Given the description of an element on the screen output the (x, y) to click on. 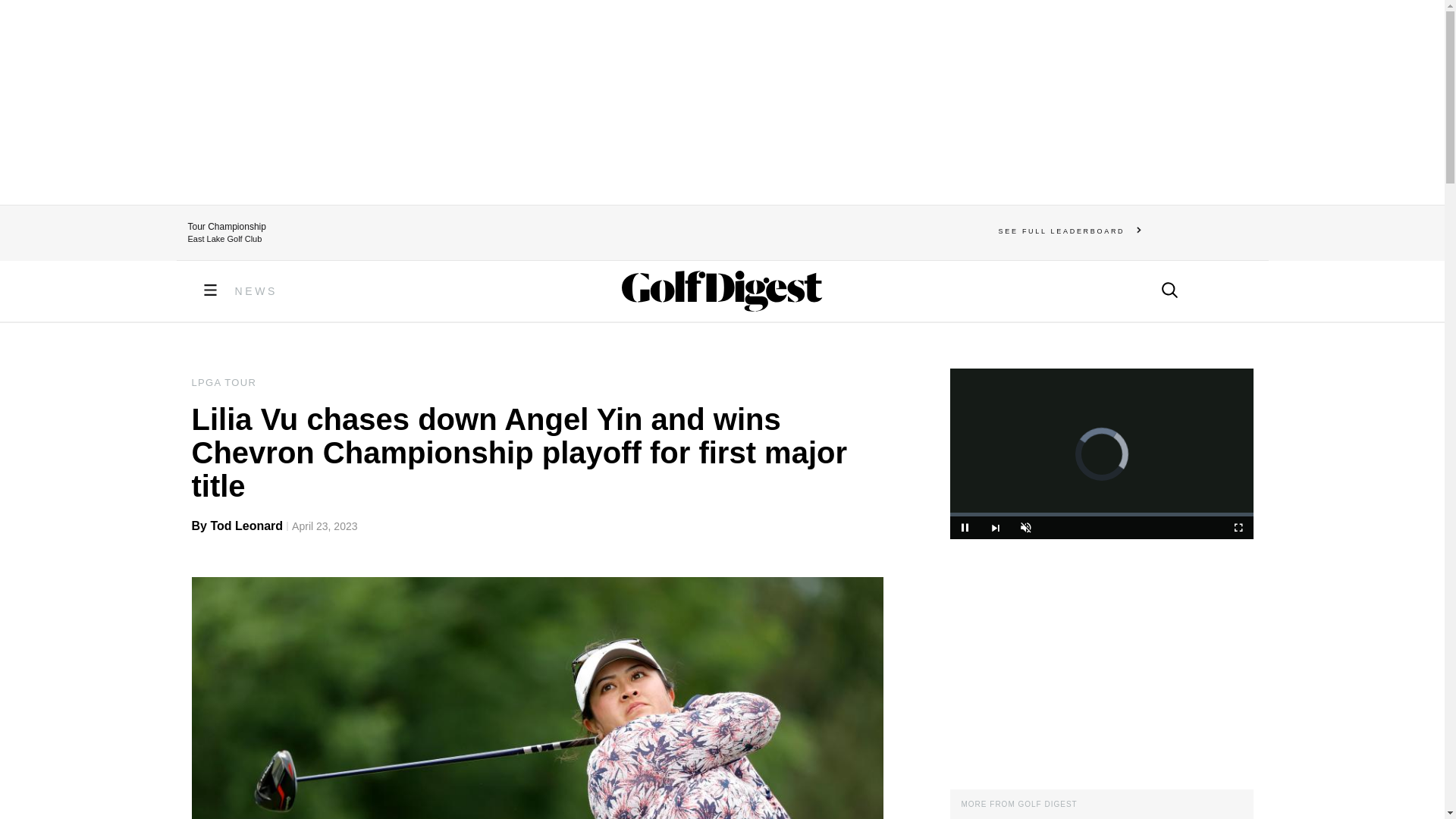
Fullscreen (1237, 527)
Next playlist item (994, 527)
NEWS (256, 291)
Pause (964, 527)
SEE FULL LEADERBOARD (1069, 230)
Unmute (1025, 527)
